Given the description of an element on the screen output the (x, y) to click on. 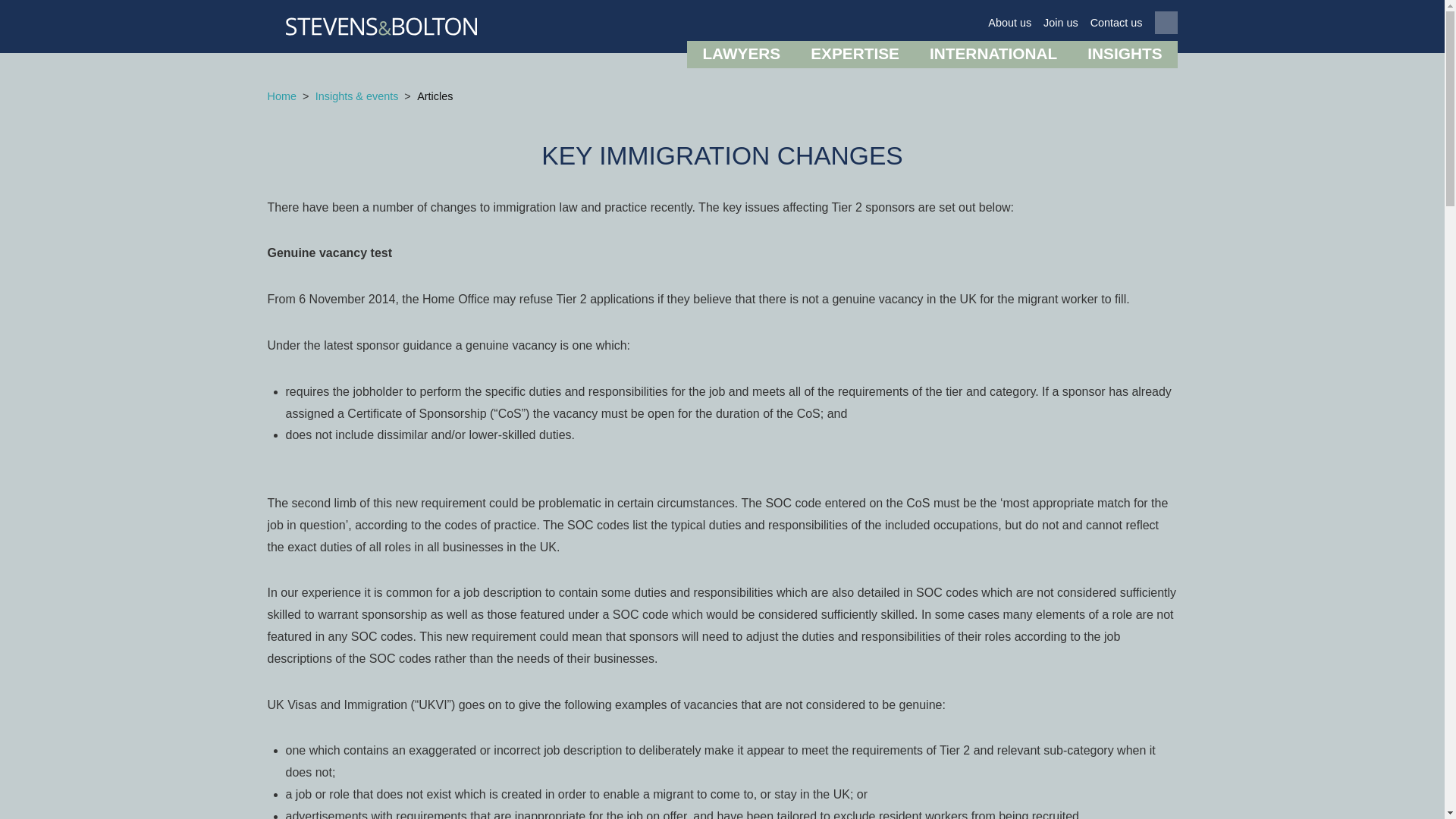
About us (1009, 22)
INTERNATIONAL (992, 53)
Home (280, 97)
Join us (1060, 22)
LAWYERS (740, 53)
Articles (434, 97)
INSIGHTS (1123, 53)
EXPERTISE (854, 53)
Contact us (1116, 22)
